Given the description of an element on the screen output the (x, y) to click on. 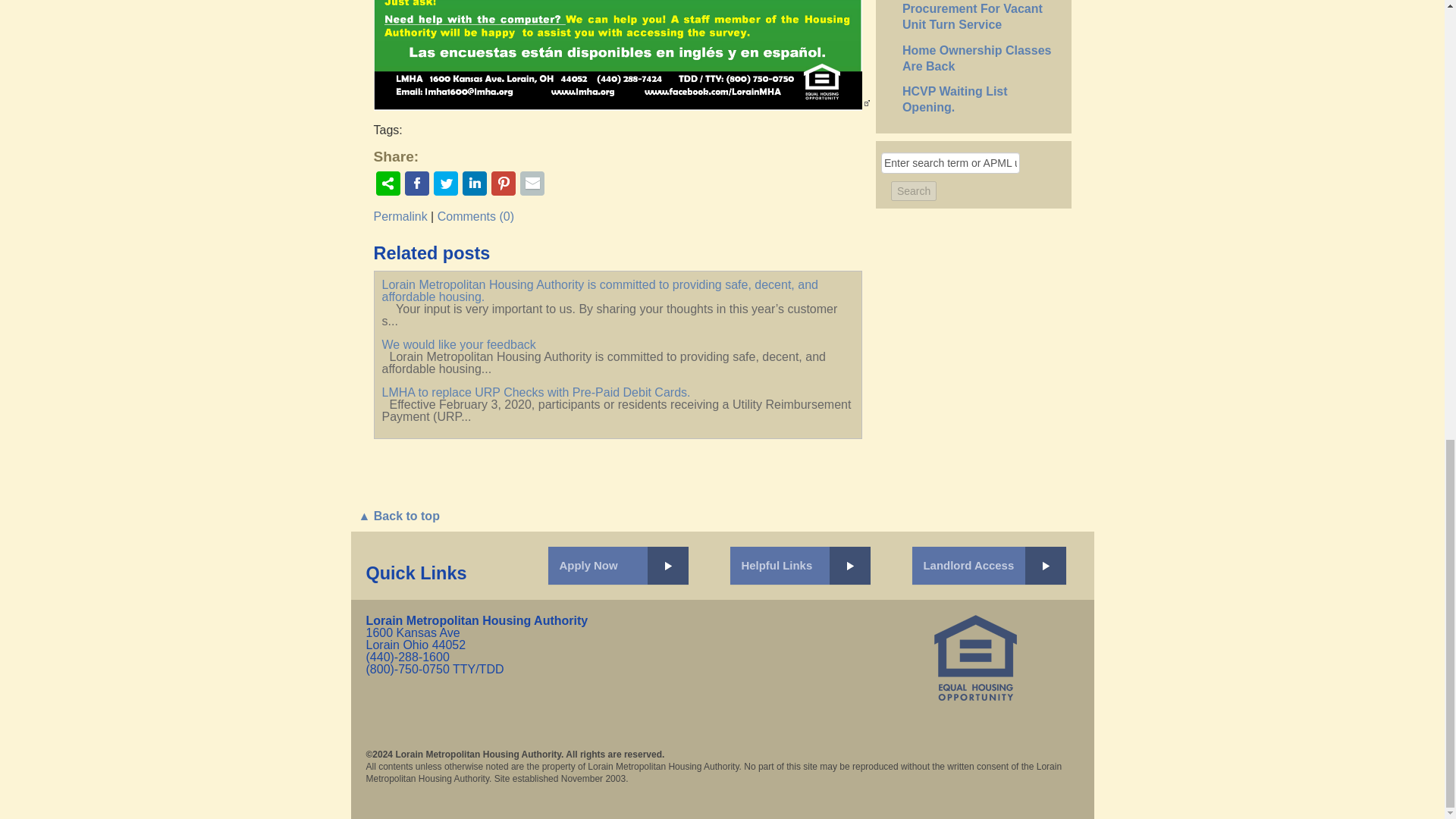
Enter search term or APML url (950, 162)
Search (913, 190)
